Given the description of an element on the screen output the (x, y) to click on. 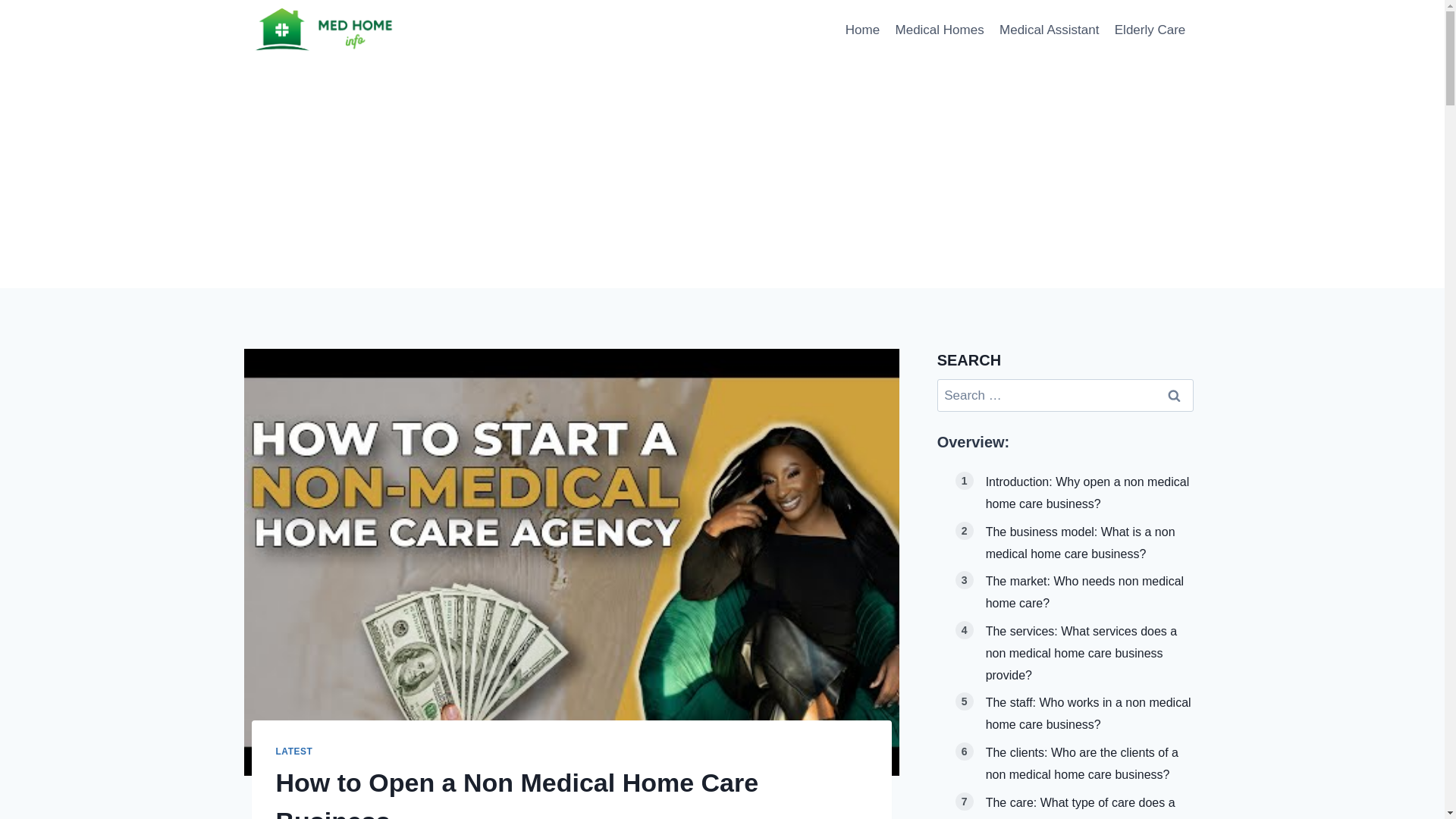
Home (863, 30)
Search (1174, 395)
Medical Assistant (1048, 30)
Medical Homes (938, 30)
Elderly Care (1149, 30)
Search (1174, 395)
LATEST (294, 751)
